Given the description of an element on the screen output the (x, y) to click on. 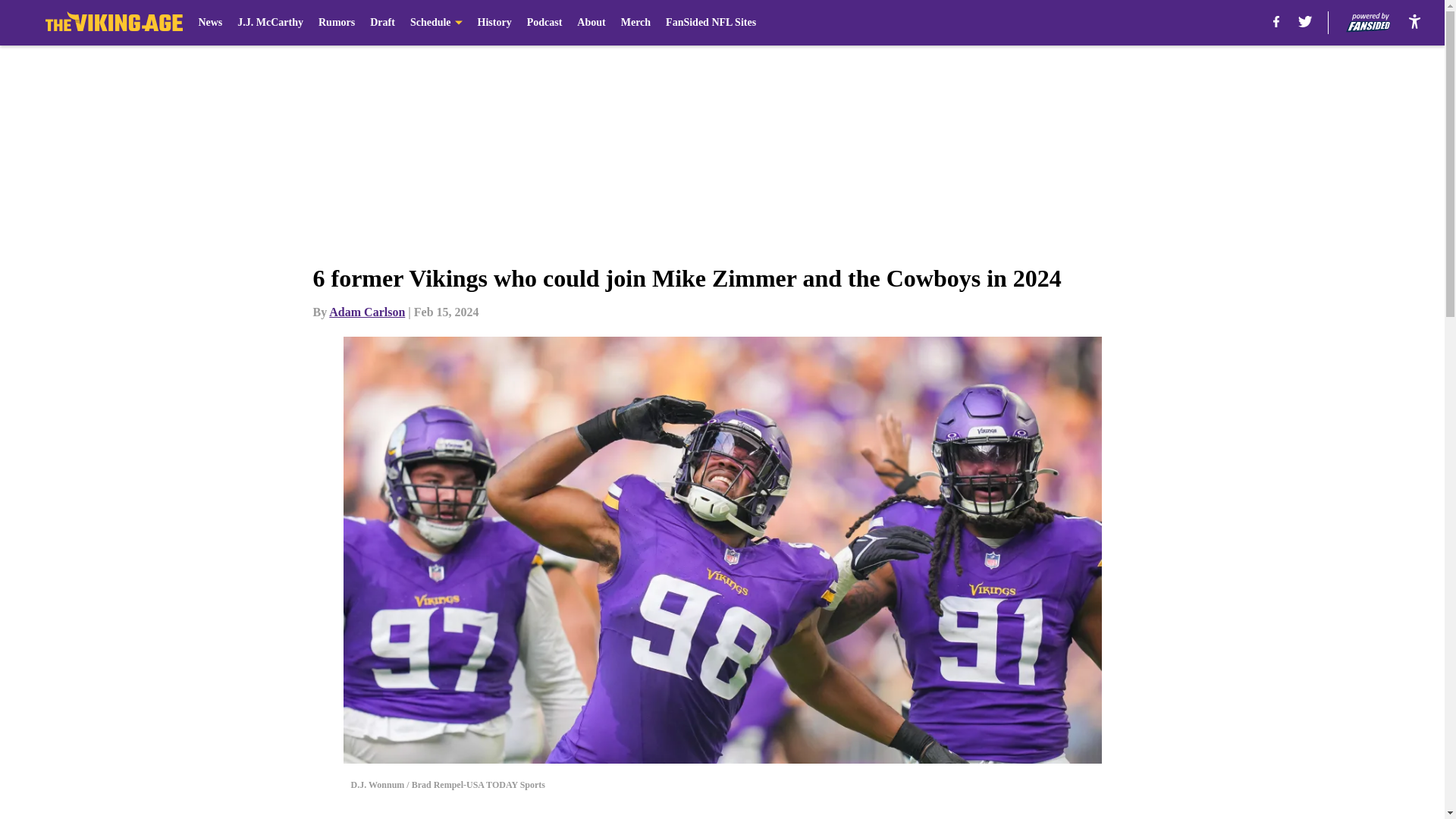
J.J. McCarthy (269, 22)
About (590, 22)
History (494, 22)
Adam Carlson (366, 311)
Merch (635, 22)
FanSided NFL Sites (710, 22)
Draft (381, 22)
News (210, 22)
Podcast (544, 22)
